Given the description of an element on the screen output the (x, y) to click on. 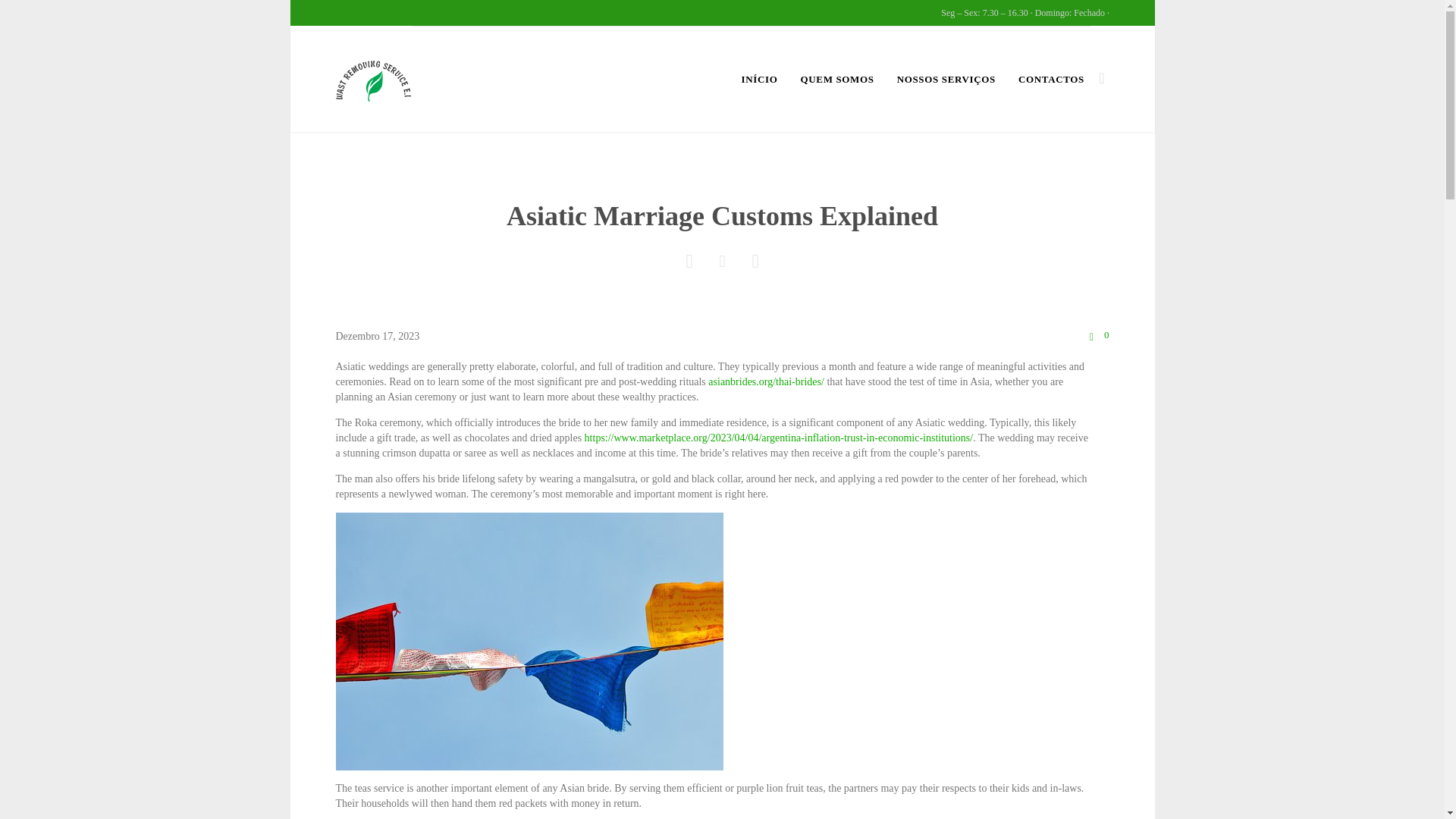
QUEM SOMOS (836, 80)
CONTACTOS (1050, 80)
